Given the description of an element on the screen output the (x, y) to click on. 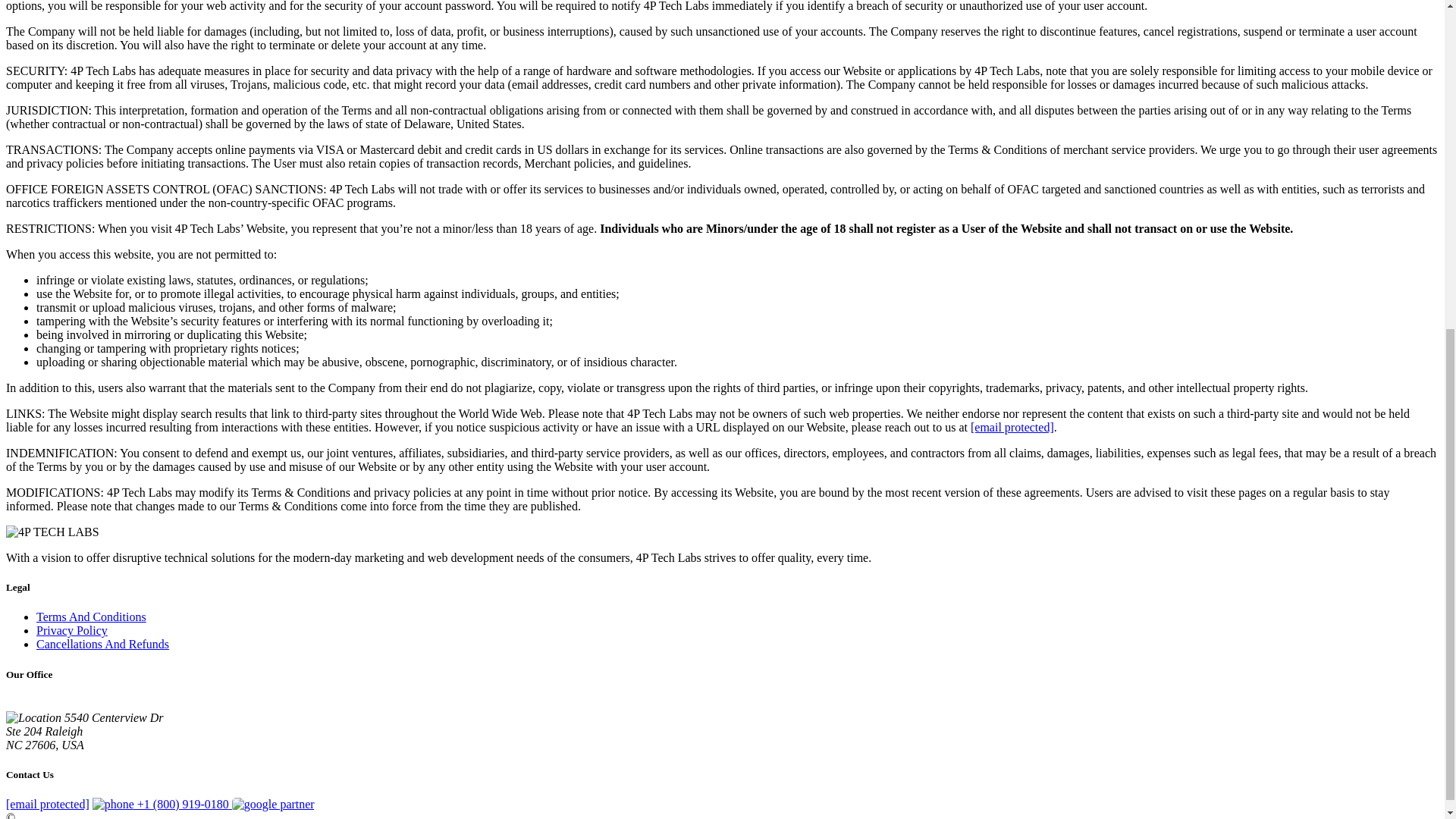
Privacy Policy (71, 630)
Terms And Conditions (91, 616)
Cancellations And Refunds (102, 644)
